Given the description of an element on the screen output the (x, y) to click on. 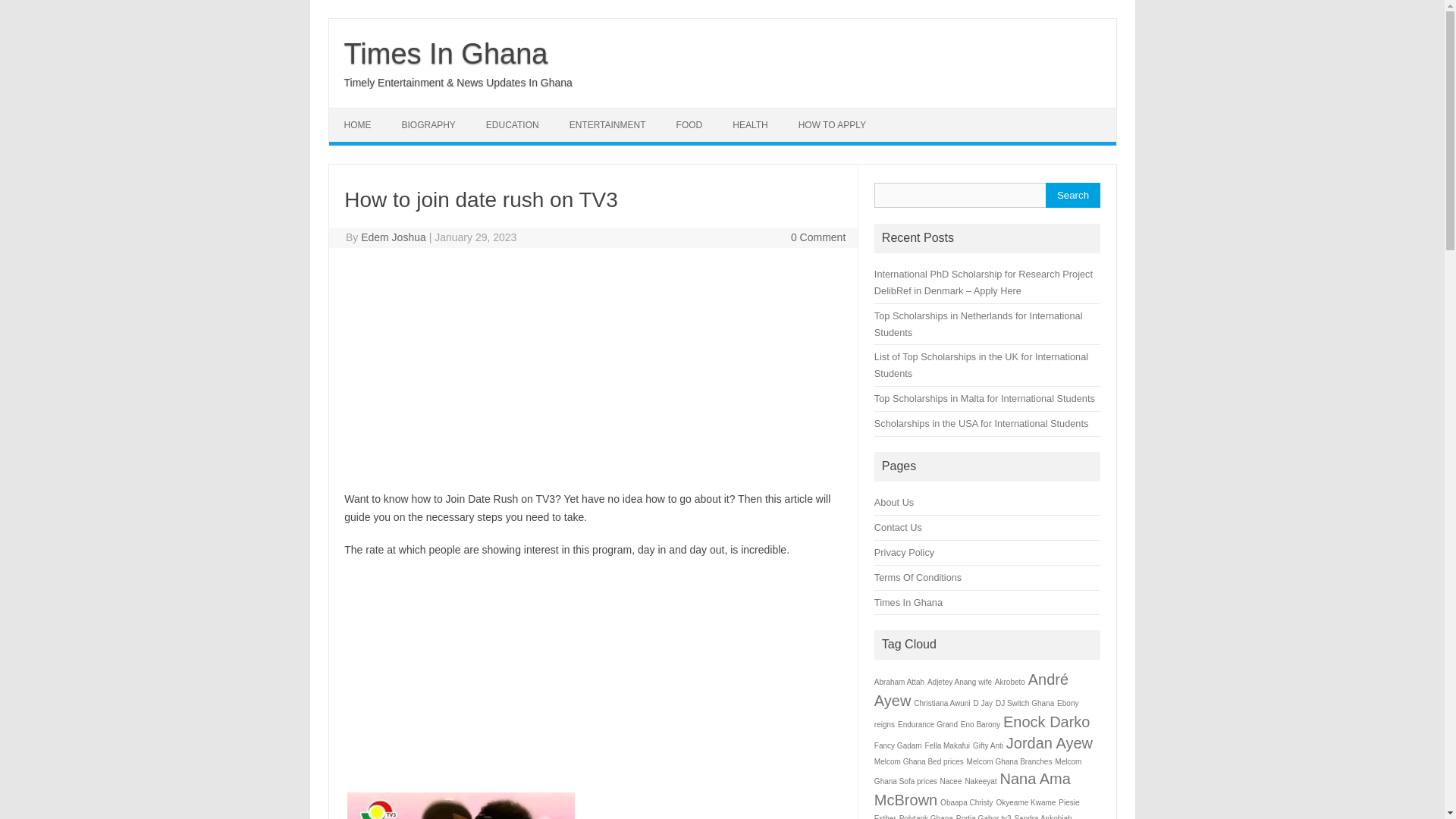
0 Comment (817, 236)
Ebony reigns (976, 713)
Search (1072, 195)
Contact Us (898, 527)
About Us (894, 501)
D Jay (983, 703)
Endurance Grand (928, 724)
Search (1072, 195)
Scholarships in the USA for International Students (981, 423)
Top Scholarships in Netherlands for International Students (979, 324)
Privacy Policy (904, 552)
Advertisement (593, 368)
Times In Ghana (445, 53)
